Given the description of an element on the screen output the (x, y) to click on. 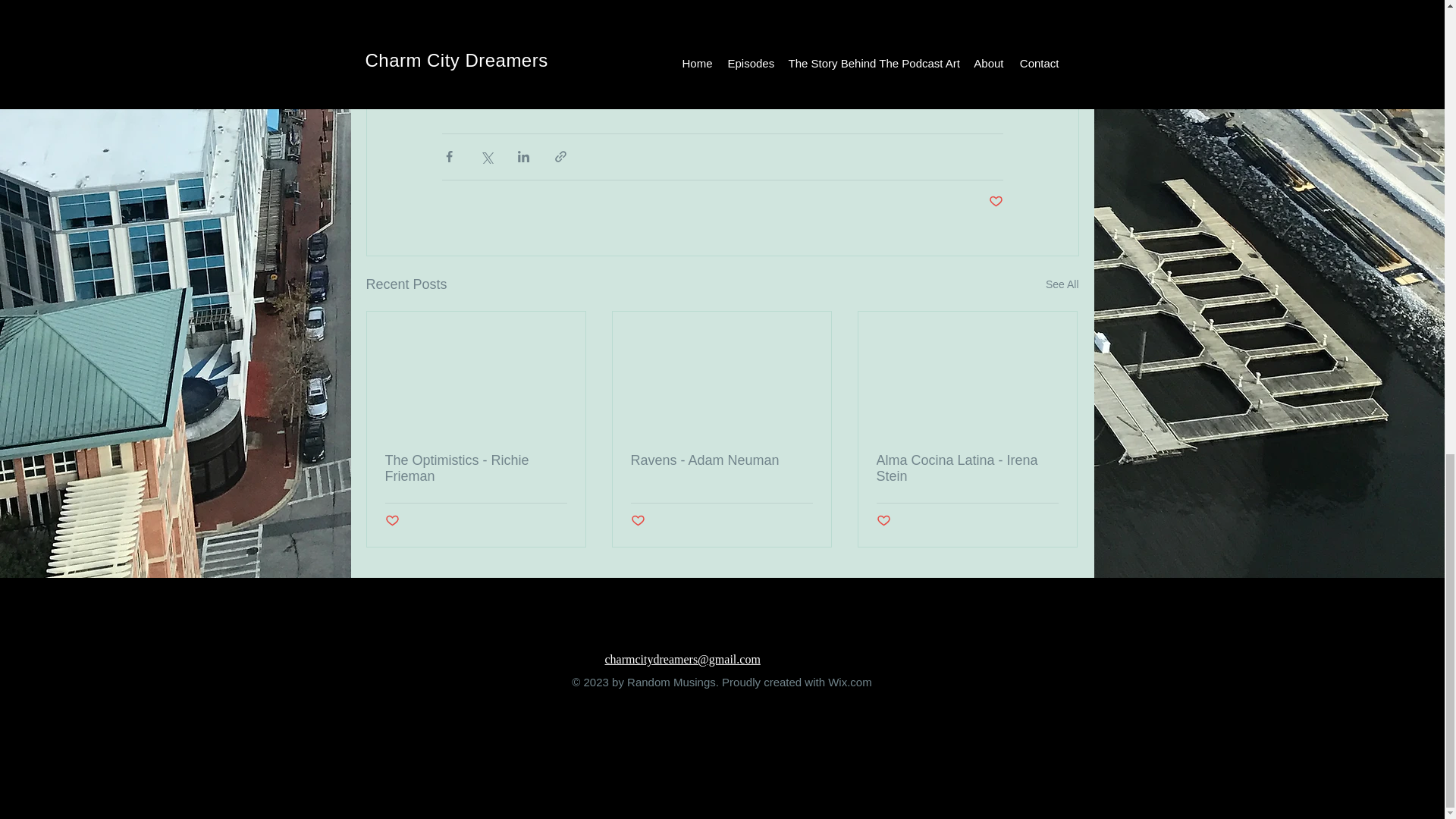
Post not marked as liked (995, 201)
See All (1061, 284)
Wix.com (850, 681)
Post not marked as liked (883, 521)
Post not marked as liked (637, 521)
Ravens - Adam Neuman (721, 460)
Alma Cocina Latina - Irena Stein (967, 468)
The Optimistics - Richie Frieman (476, 468)
Post not marked as liked (391, 521)
